Given the description of an element on the screen output the (x, y) to click on. 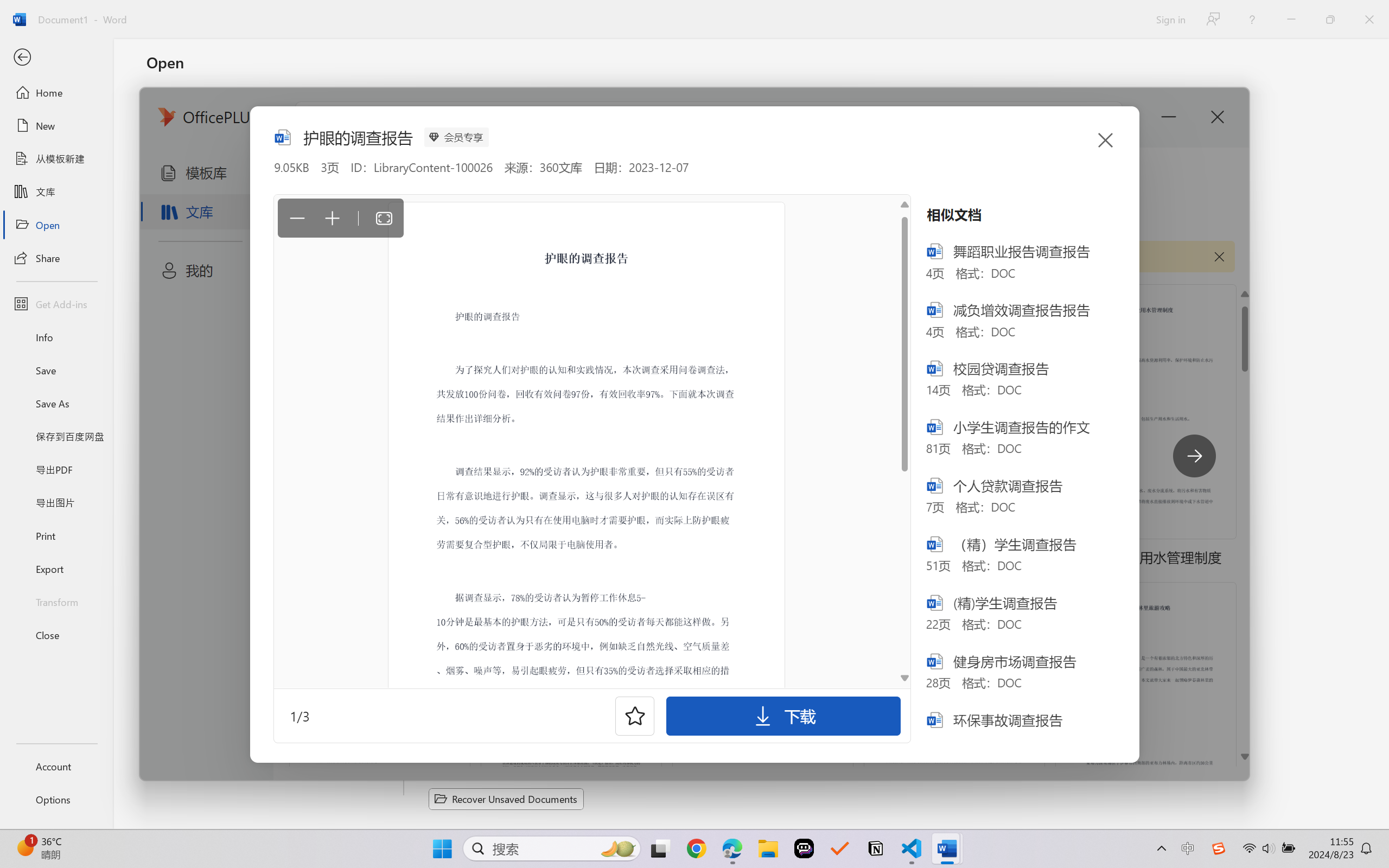
Save As (56, 403)
Back (56, 57)
